Given the description of an element on the screen output the (x, y) to click on. 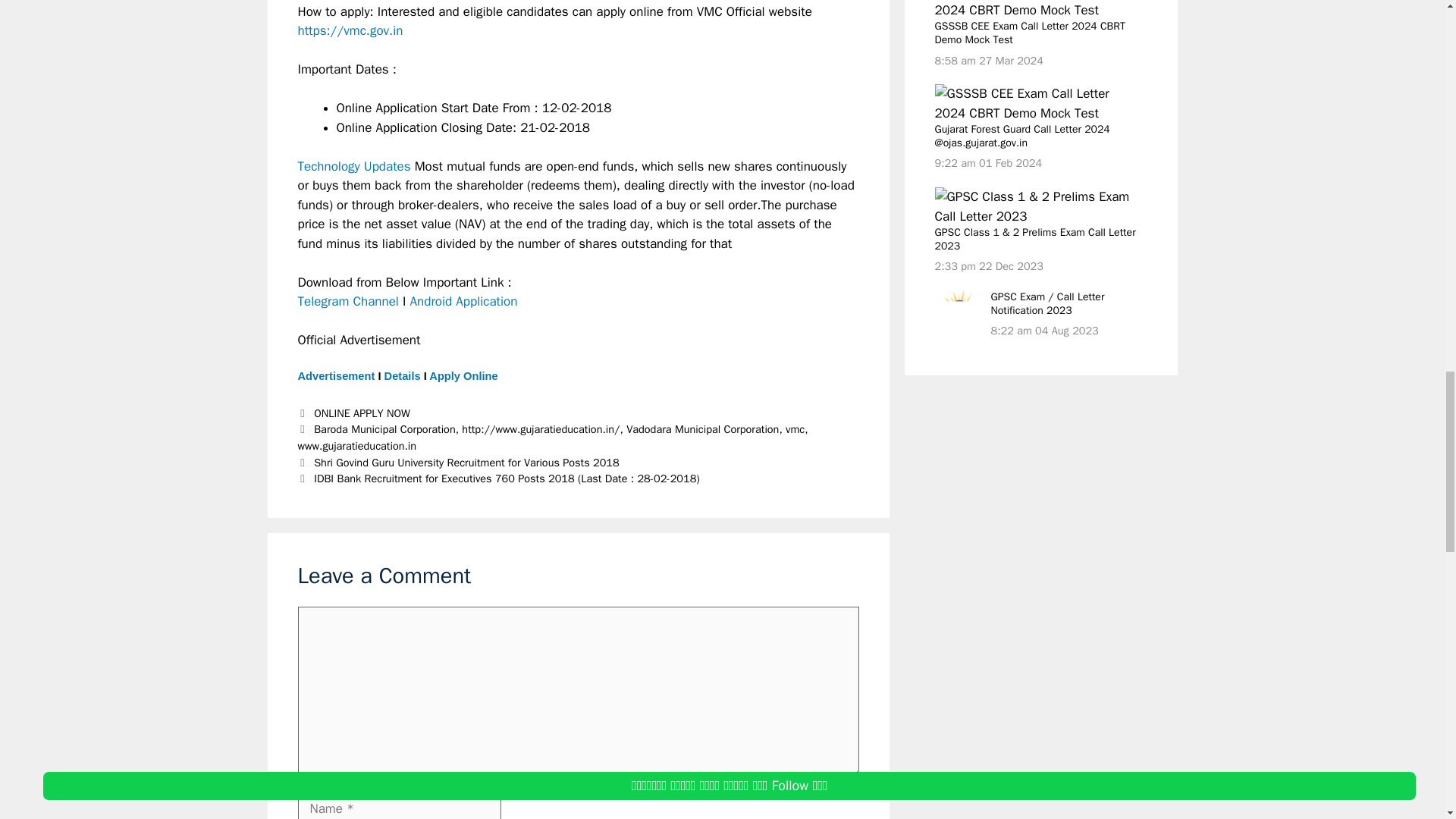
Apply Online (463, 376)
Advertisement (335, 376)
Vadodara Municipal Corporation (702, 428)
Baroda Municipal Corporation (384, 428)
Details (402, 376)
Telegram Channel (347, 301)
GSSSB CEE Exam Call Letter 2024 CBRT Demo Mock Test (1036, 103)
vmc (795, 428)
www.gujaratieducation.in (356, 445)
Android Application (464, 301)
